Given the description of an element on the screen output the (x, y) to click on. 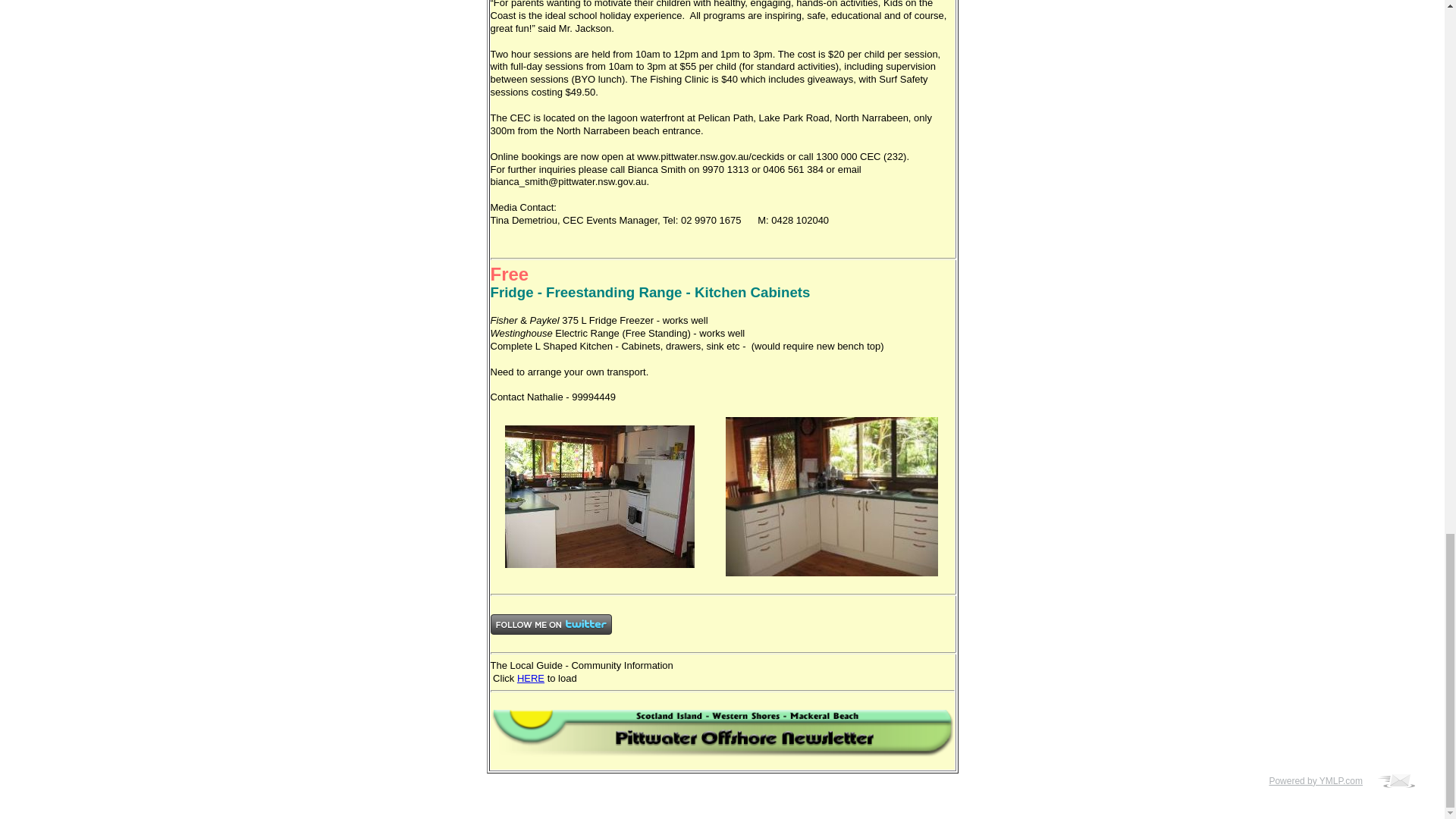
HERE (530, 677)
Powered by YMLP.com (1319, 780)
Kitchen1 (599, 496)
The Local Guide - Community Information (580, 665)
